Given the description of an element on the screen output the (x, y) to click on. 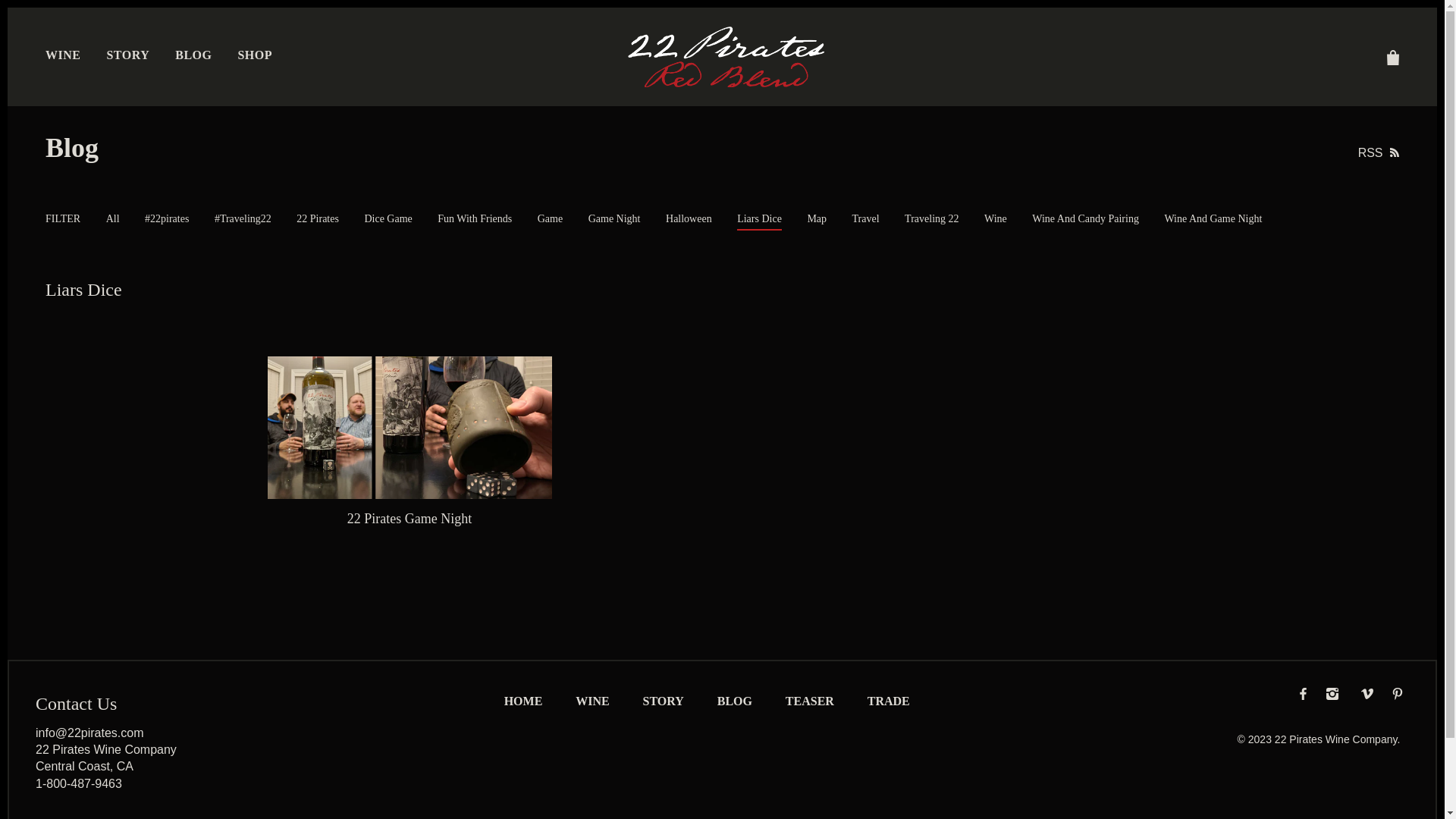
Facebook Element type: hover (1302, 693)
Travel Element type: text (865, 218)
#Traveling22 Element type: text (242, 218)
STORY Element type: text (663, 700)
Traveling 22 Element type: text (931, 218)
Wine And Candy Pairing Element type: text (1085, 218)
Wine And Game Night Element type: text (1212, 218)
Liars Dice Element type: text (759, 221)
Dice Game Element type: text (387, 218)
TEASER Element type: text (809, 700)
Instagram Element type: hover (1332, 693)
WINE Element type: text (62, 54)
Halloween Element type: text (688, 218)
BLOG Element type: text (734, 700)
WINE Element type: text (591, 700)
Vimeo Element type: hover (1367, 693)
STORY Element type: text (127, 54)
22 Pirates Wine Company Element type: hover (726, 53)
HOME Element type: text (523, 700)
SHOP Element type: text (254, 54)
Fun With Friends Element type: text (474, 218)
Pinterest Element type: hover (1397, 693)
RSS Element type: text (1378, 153)
Game Night Element type: text (614, 218)
22 Pirates Wine Company Element type: text (1335, 739)
info@22pirates.com Element type: text (89, 732)
#22pirates Element type: text (166, 218)
Wine Element type: text (995, 218)
22 Pirates Game Night Element type: text (409, 518)
Game Element type: text (549, 218)
Map Element type: text (816, 218)
All Element type: text (112, 218)
22 Pirates Element type: text (317, 218)
BLOG Element type: text (192, 54)
TRADE Element type: text (888, 700)
